Given the description of an element on the screen output the (x, y) to click on. 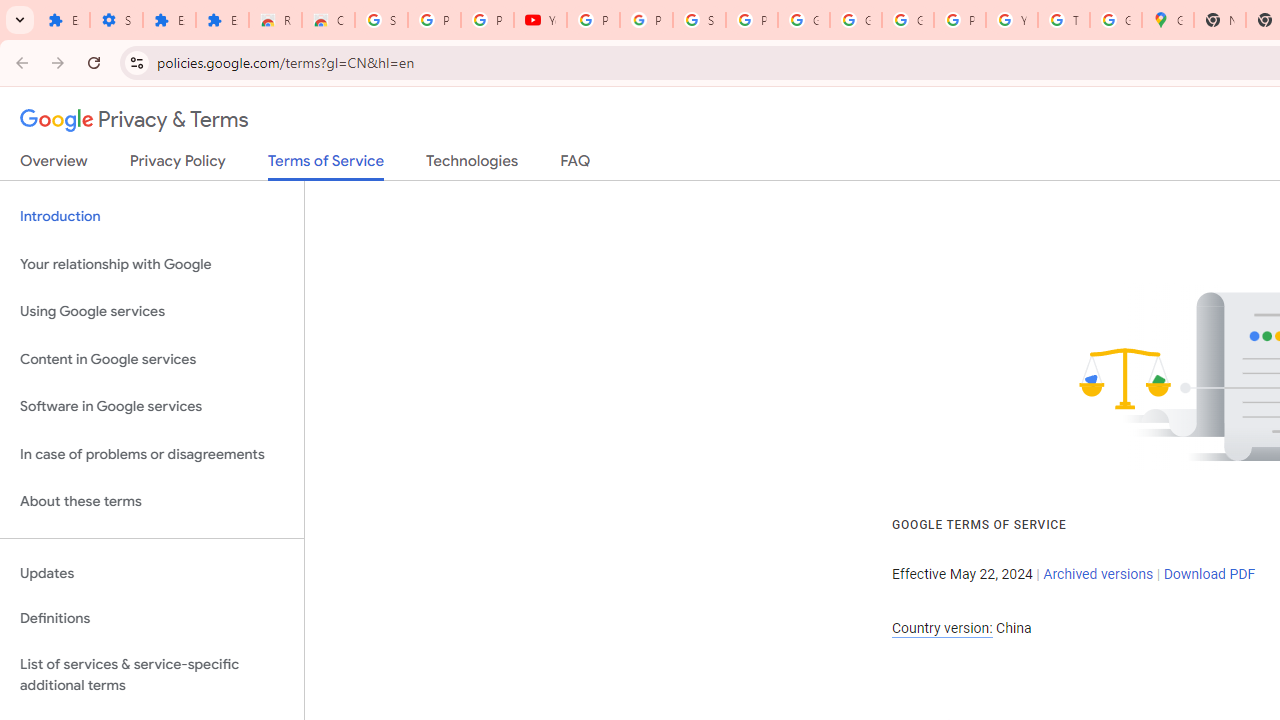
Content in Google services (152, 358)
Google Account (855, 20)
In case of problems or disagreements (152, 453)
YouTube (1011, 20)
About these terms (152, 502)
Country version: (942, 628)
Google Account (803, 20)
New Tab (1219, 20)
